Given the description of an element on the screen output the (x, y) to click on. 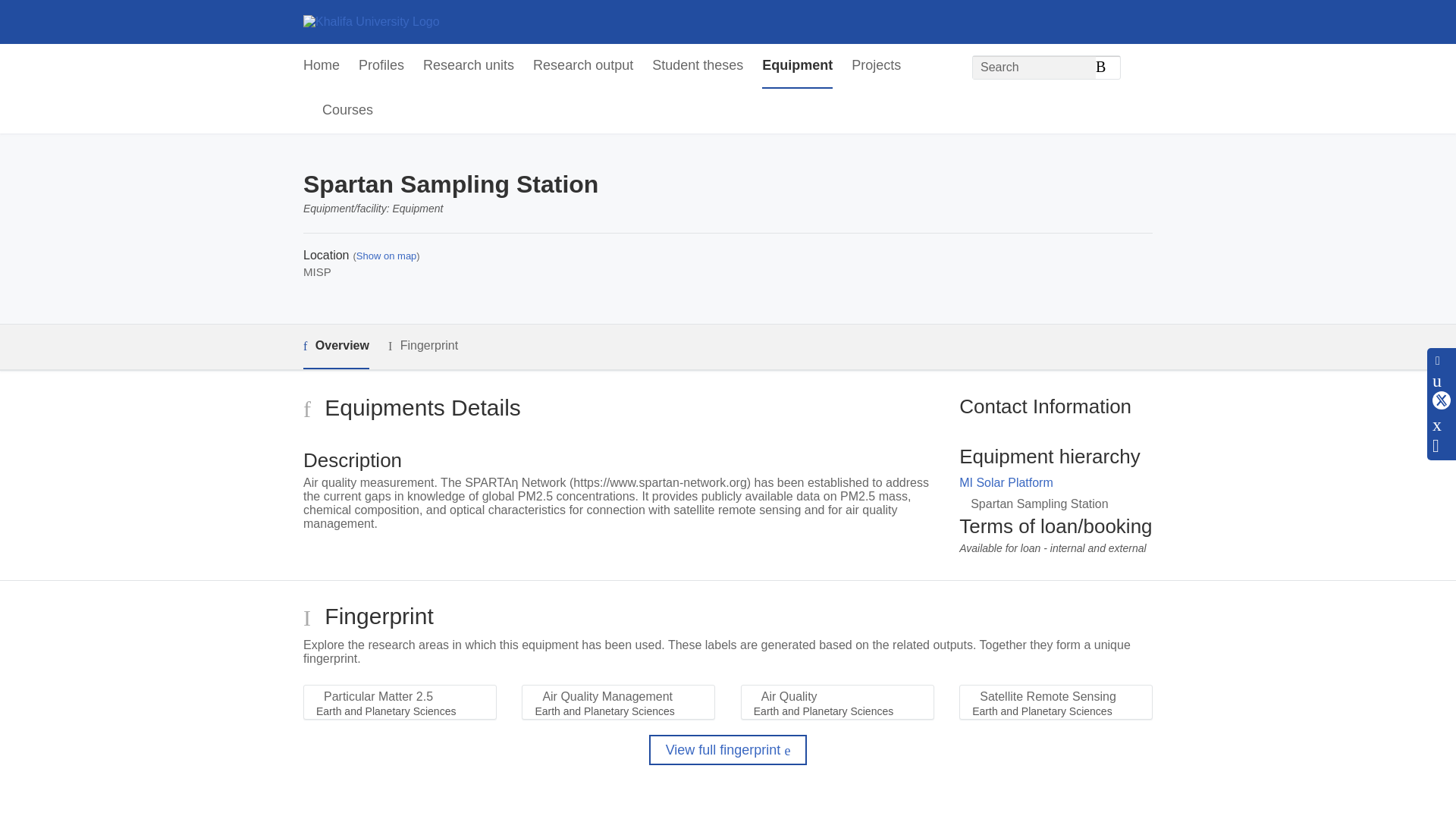
Khalifa University Home (370, 21)
Projects (876, 66)
Research units (468, 66)
MI Solar Platform (1005, 481)
Overview (335, 346)
Fingerprint (423, 345)
Courses (346, 110)
Research output (582, 66)
Equipment (796, 66)
Profiles (381, 66)
